Given the description of an element on the screen output the (x, y) to click on. 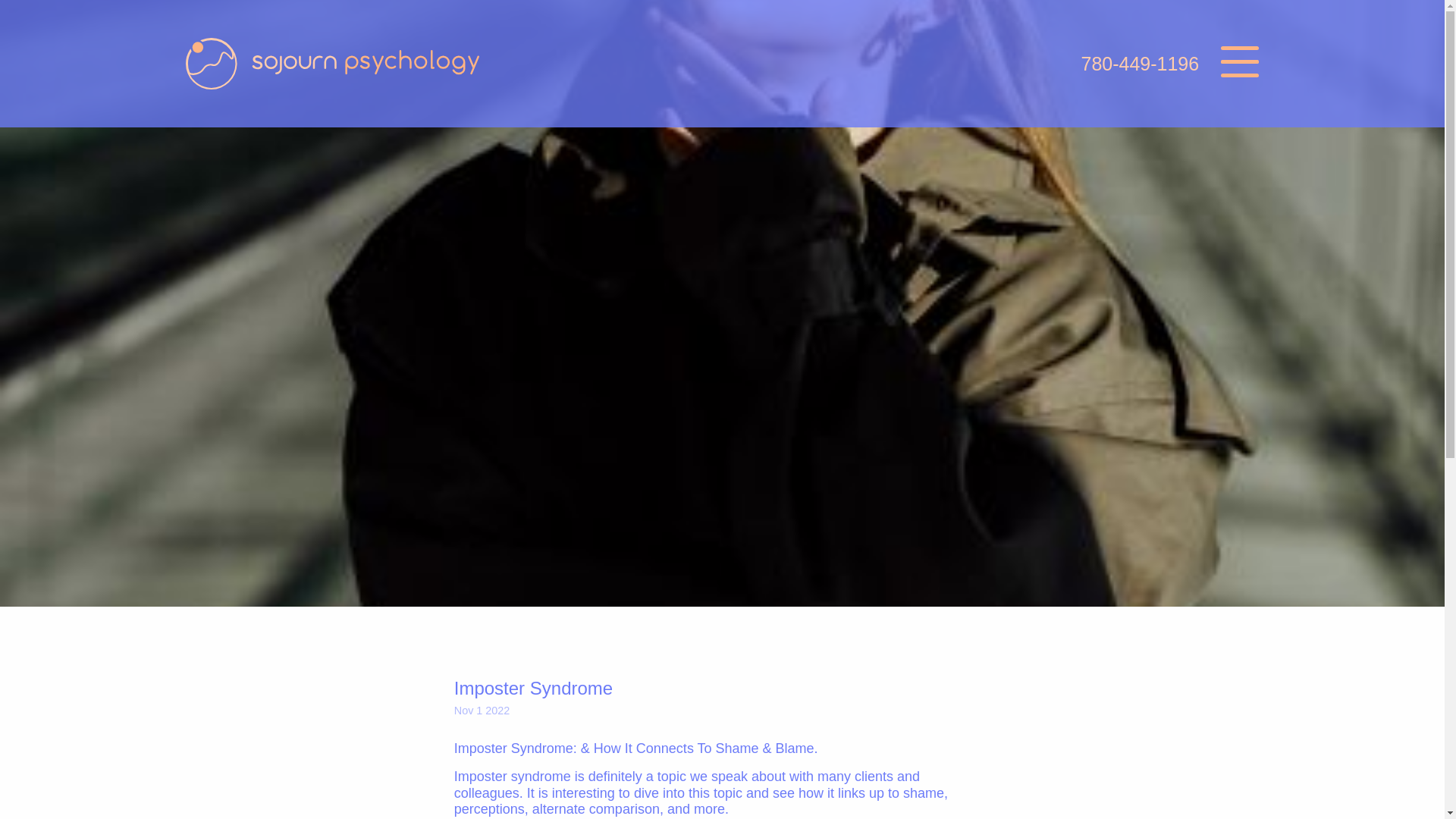
780-449-1196 (1139, 63)
